Given the description of an element on the screen output the (x, y) to click on. 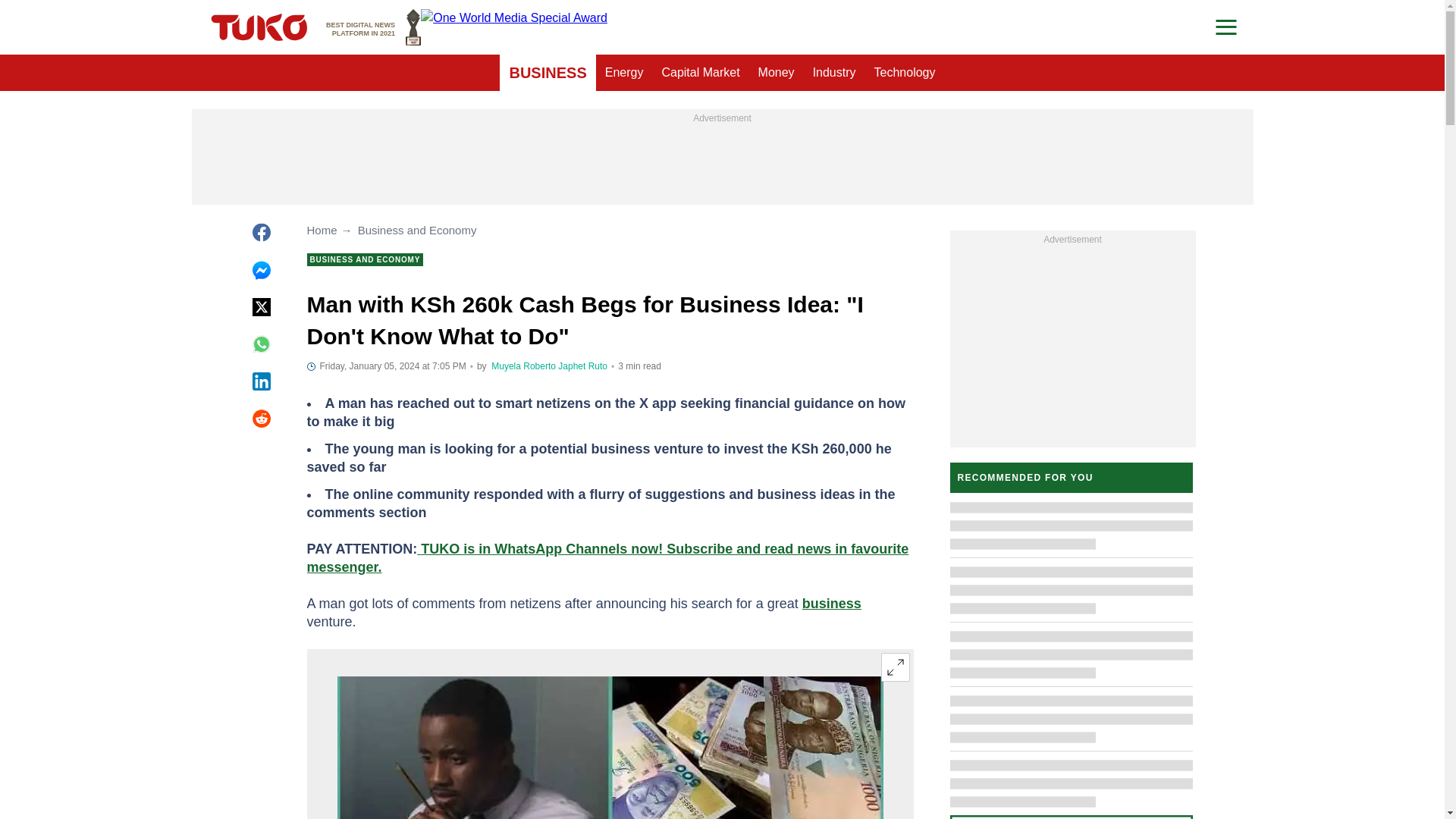
BUSINESS (547, 72)
Industry (833, 72)
Author page (524, 366)
Technology (904, 72)
Author page (582, 366)
Expand image (895, 666)
Energy (623, 72)
Man sought advice on a business to delve into. (609, 747)
Money (776, 72)
